Given the description of an element on the screen output the (x, y) to click on. 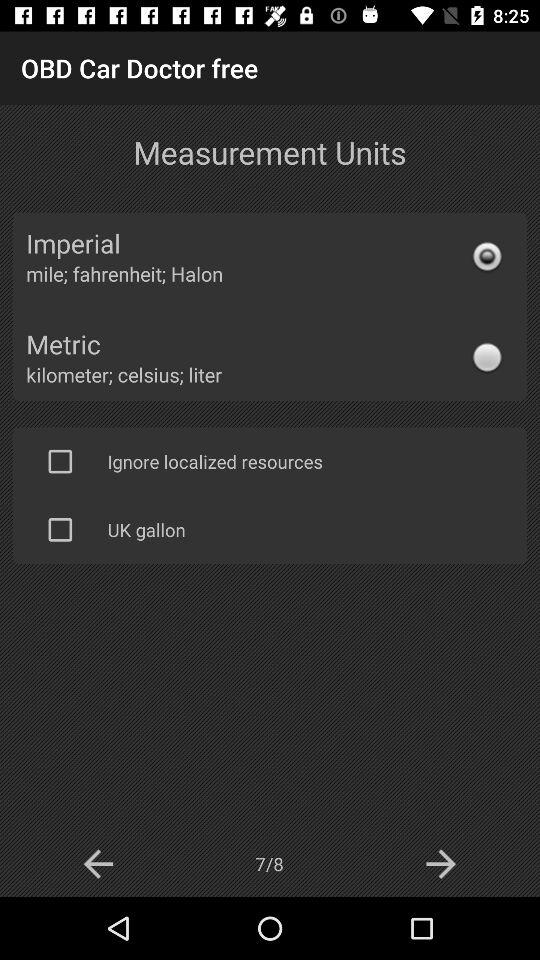
toggle for on and off (60, 529)
